Given the description of an element on the screen output the (x, y) to click on. 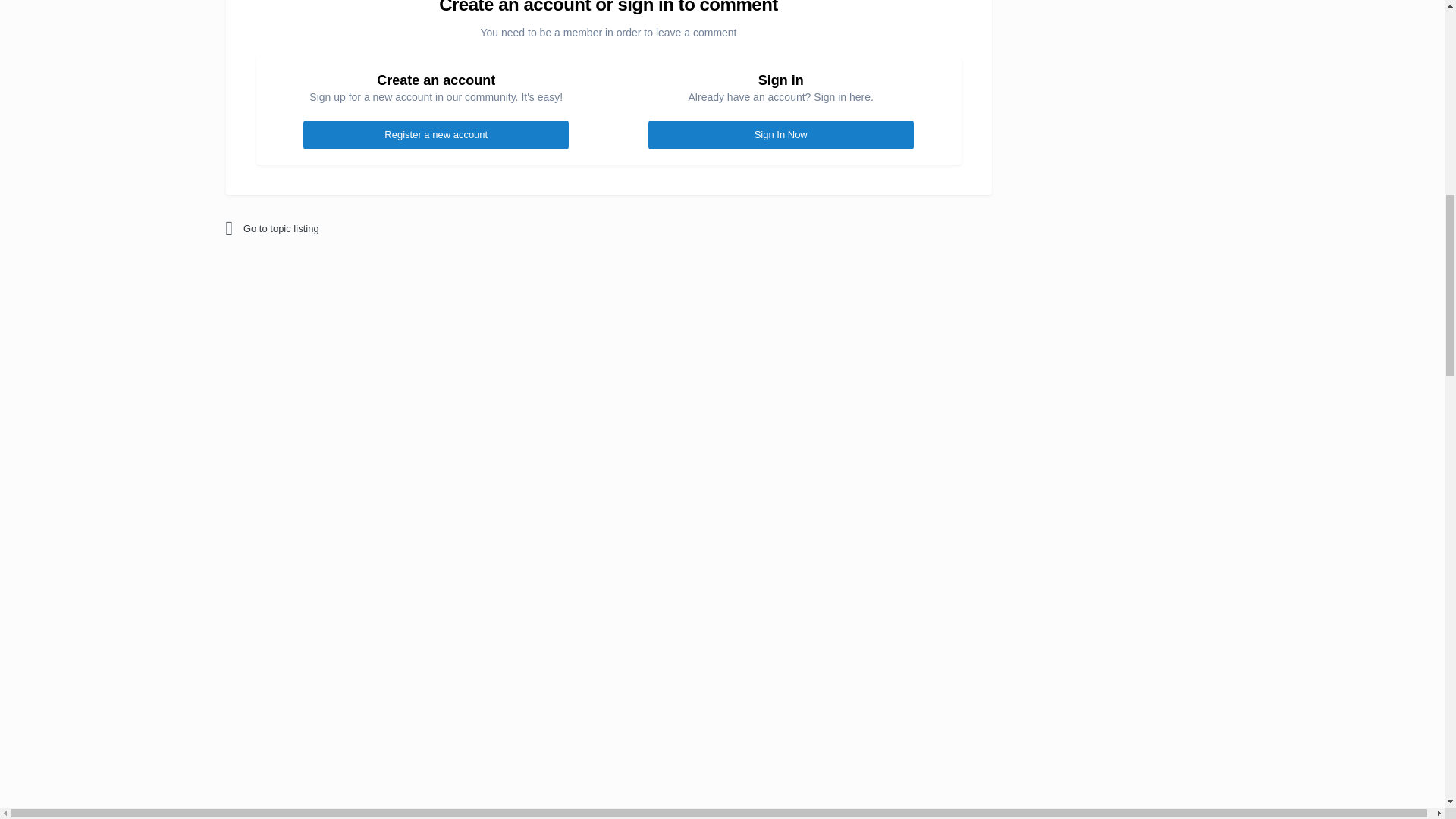
Go to Networking, Networked Audio, and Streaming (358, 228)
